Given the description of an element on the screen output the (x, y) to click on. 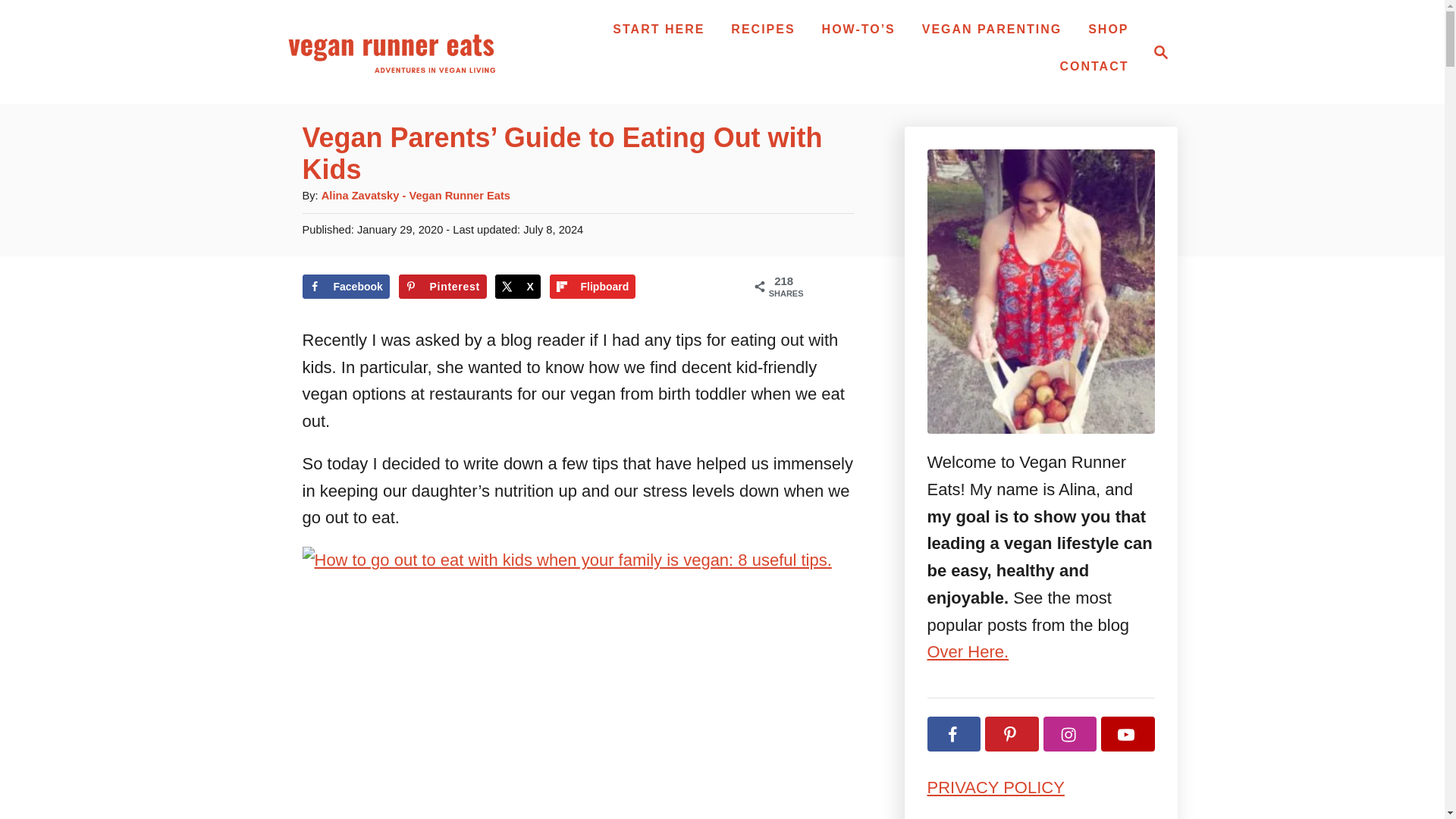
Share on X (517, 286)
Share on Flipboard (593, 286)
RECIPES (762, 29)
CONTACT (1093, 65)
Follow on Pinterest (1012, 733)
Share on Facebook (1155, 51)
SHOP (344, 286)
Magnifying Glass (1107, 29)
START HERE (1160, 51)
